Given the description of an element on the screen output the (x, y) to click on. 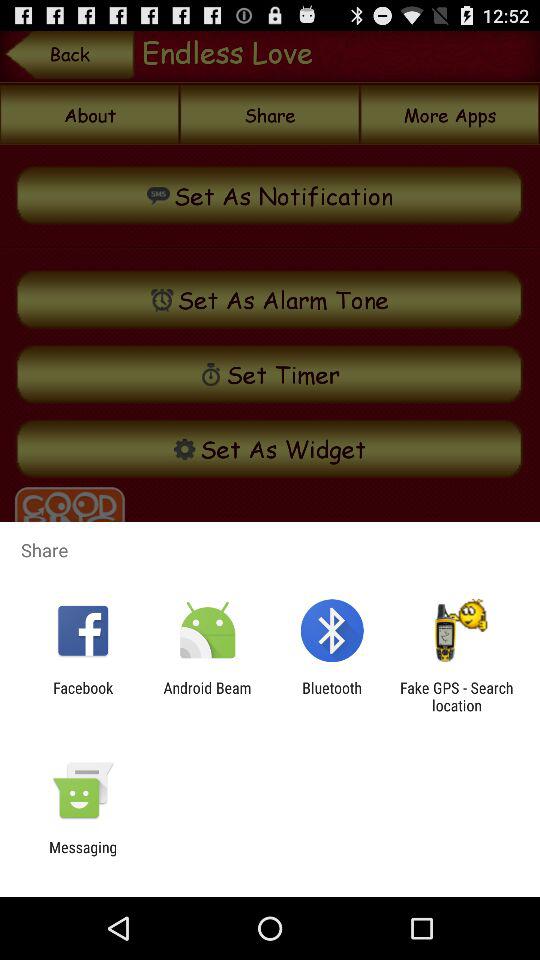
turn on the fake gps search (456, 696)
